Given the description of an element on the screen output the (x, y) to click on. 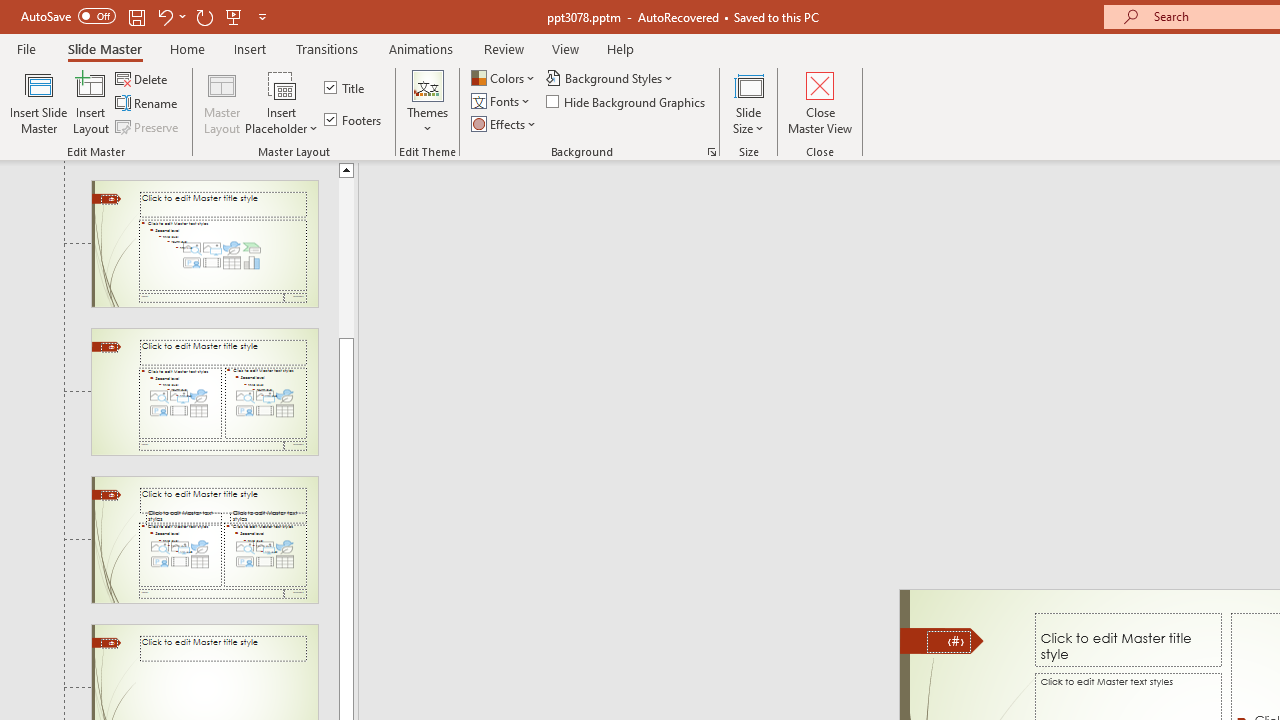
Title TextBox (1128, 639)
Hide Background Graphics (626, 101)
Footers (354, 119)
Slide Title and Content Layout: used by no slides (204, 243)
Insert Placeholder (282, 102)
Page up (345, 257)
Fonts (502, 101)
